Given the description of an element on the screen output the (x, y) to click on. 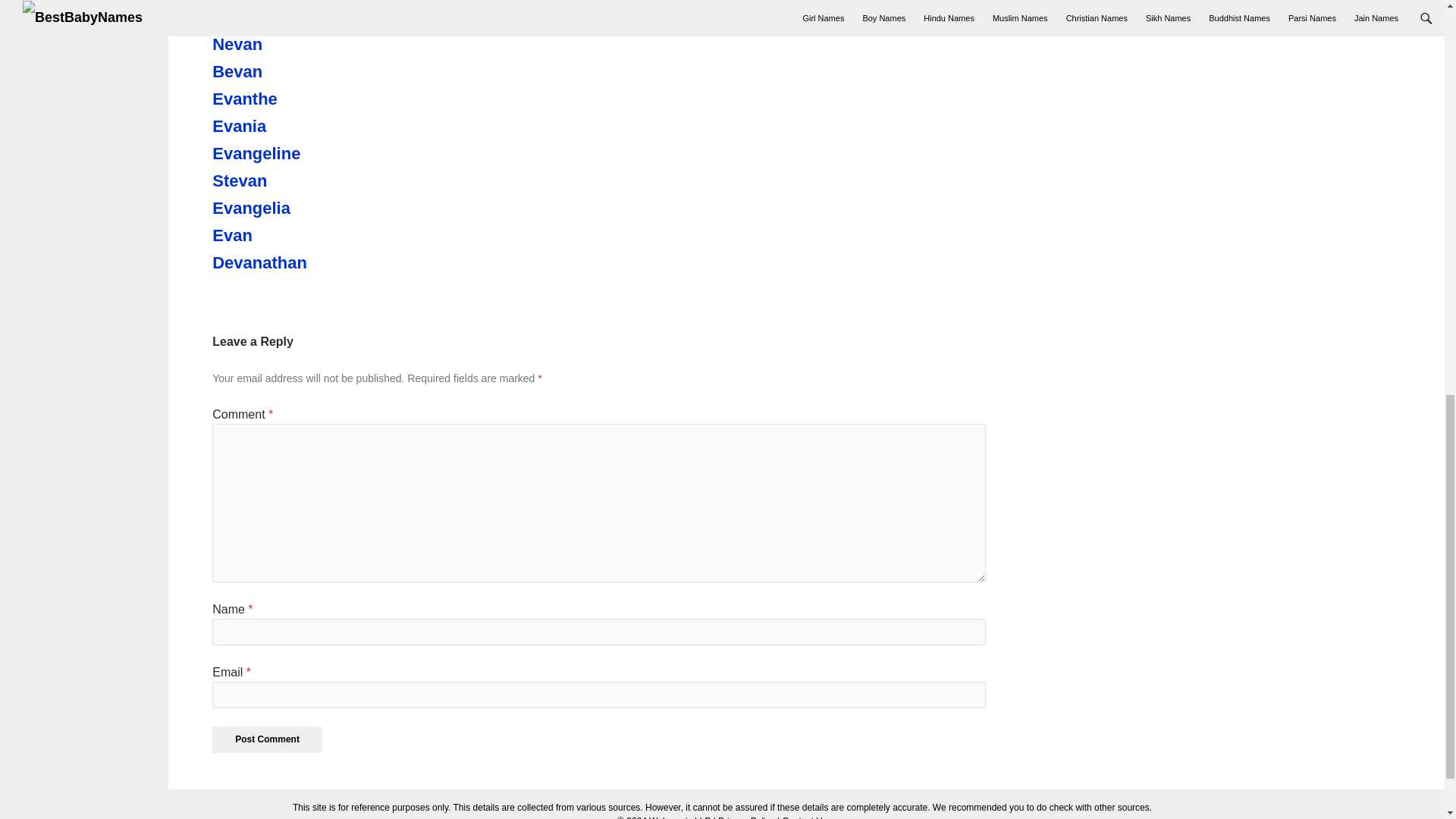
Stevan (295, 180)
Evan (295, 235)
Post Comment (266, 739)
Estevan (295, 17)
Evangeline (295, 153)
Evangelia (295, 208)
Post Comment (266, 739)
Evania (295, 126)
Evanthe (295, 99)
Bevan (295, 72)
Devanathan (295, 262)
Nevan (295, 45)
